Given the description of an element on the screen output the (x, y) to click on. 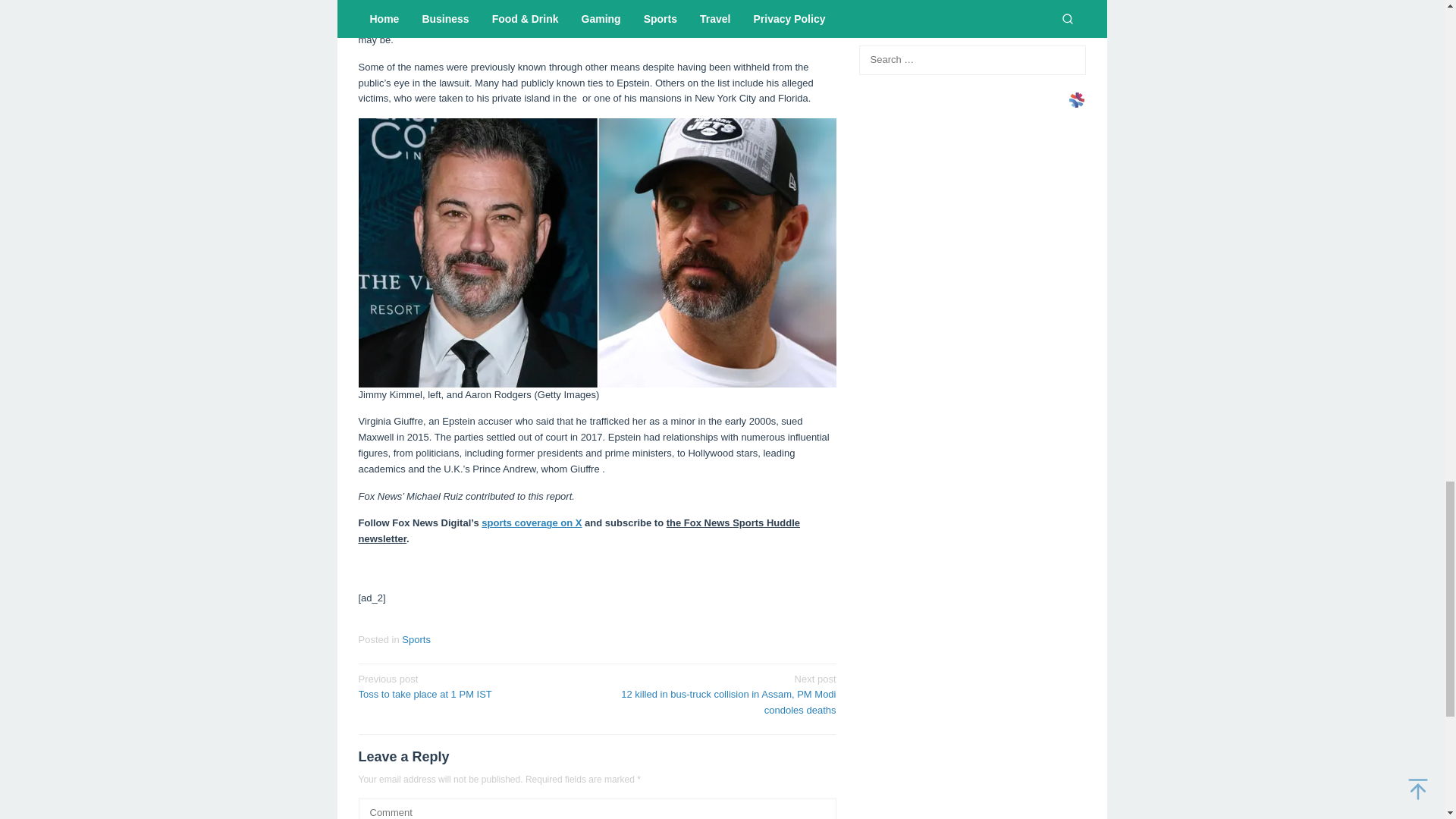
sports coverage on X (530, 522)
Sports (472, 686)
